Given the description of an element on the screen output the (x, y) to click on. 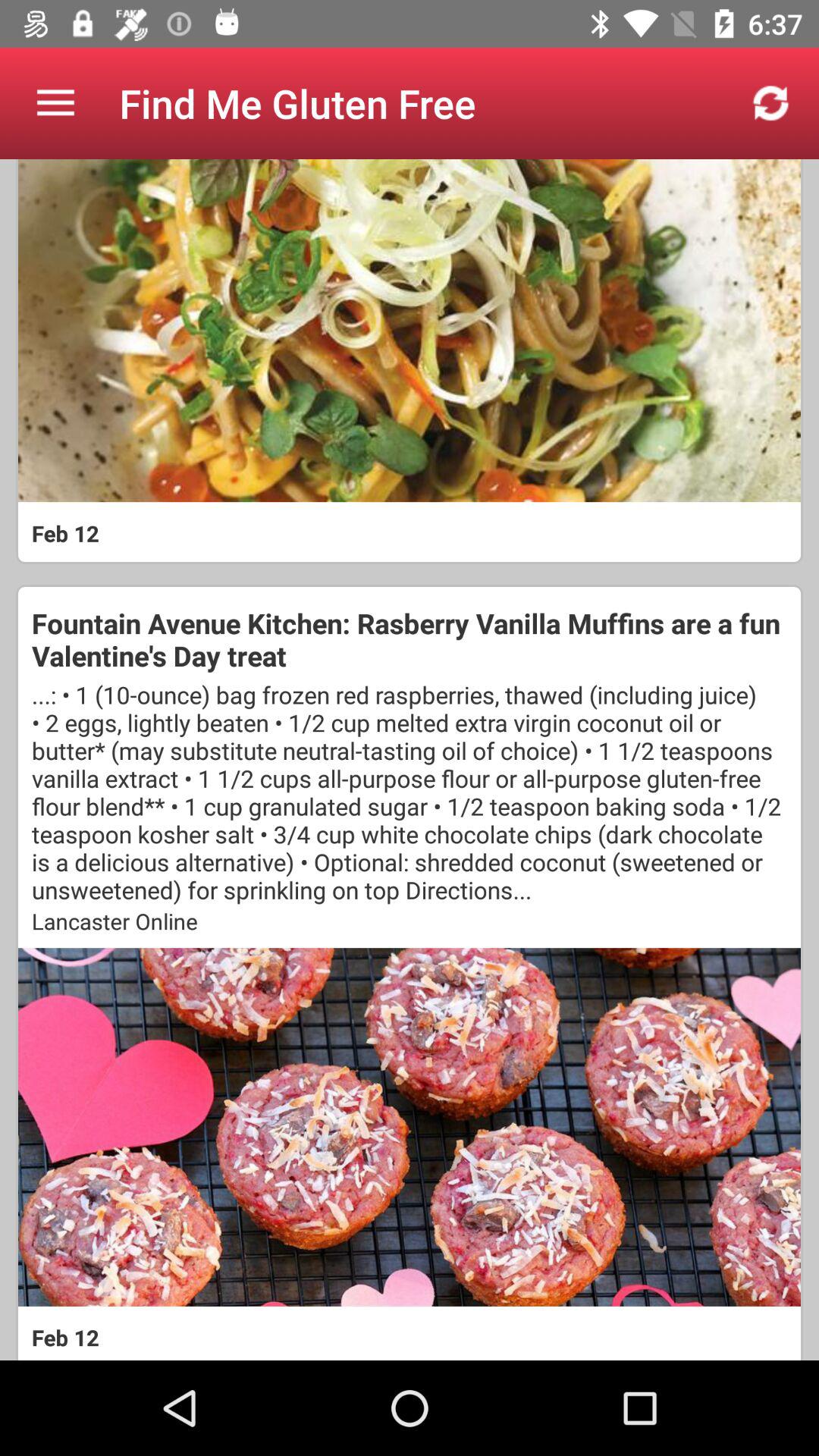
turn off item below feb 12 item (409, 639)
